Given the description of an element on the screen output the (x, y) to click on. 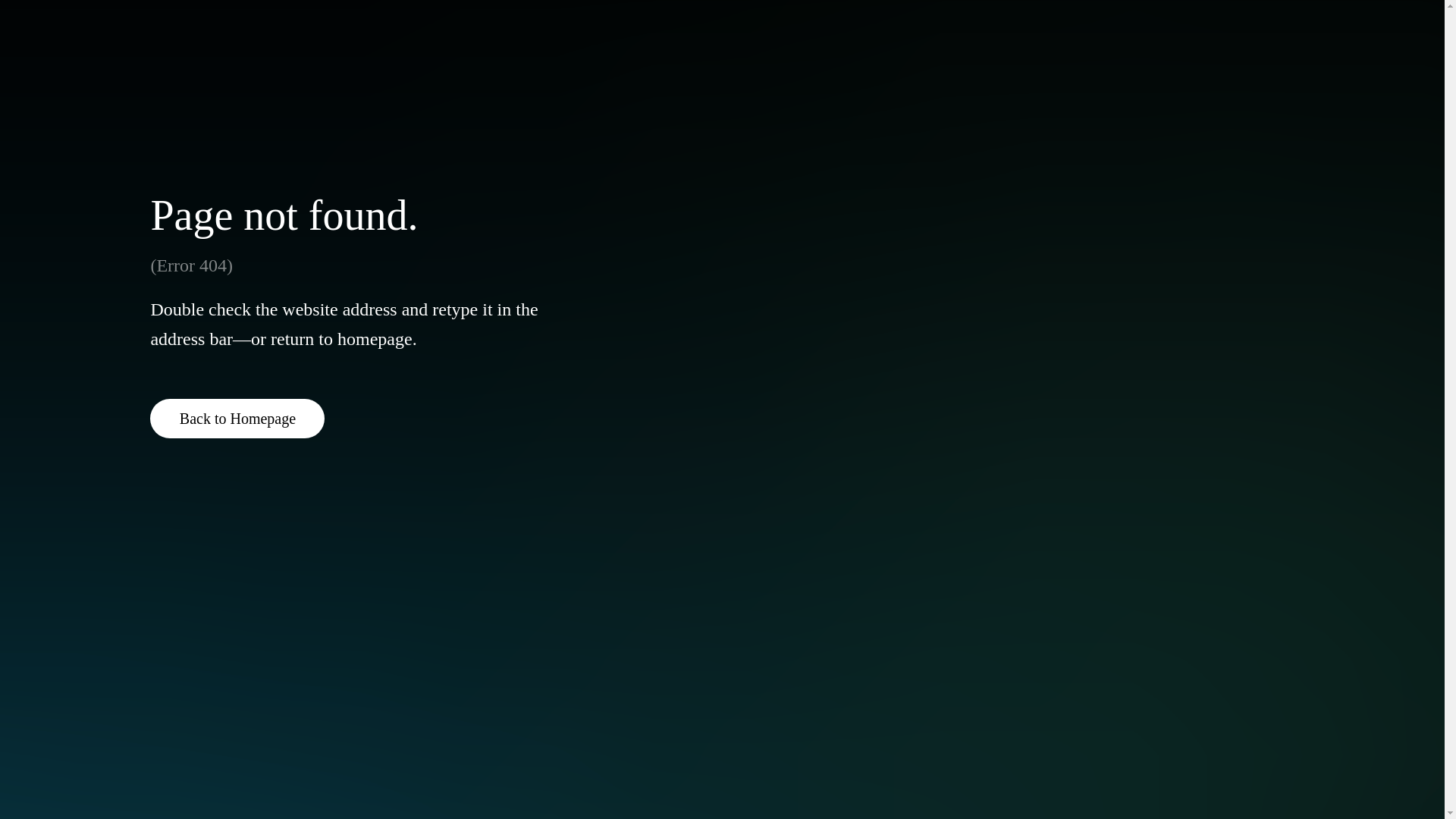
Back to Homepage (236, 418)
